Given the description of an element on the screen output the (x, y) to click on. 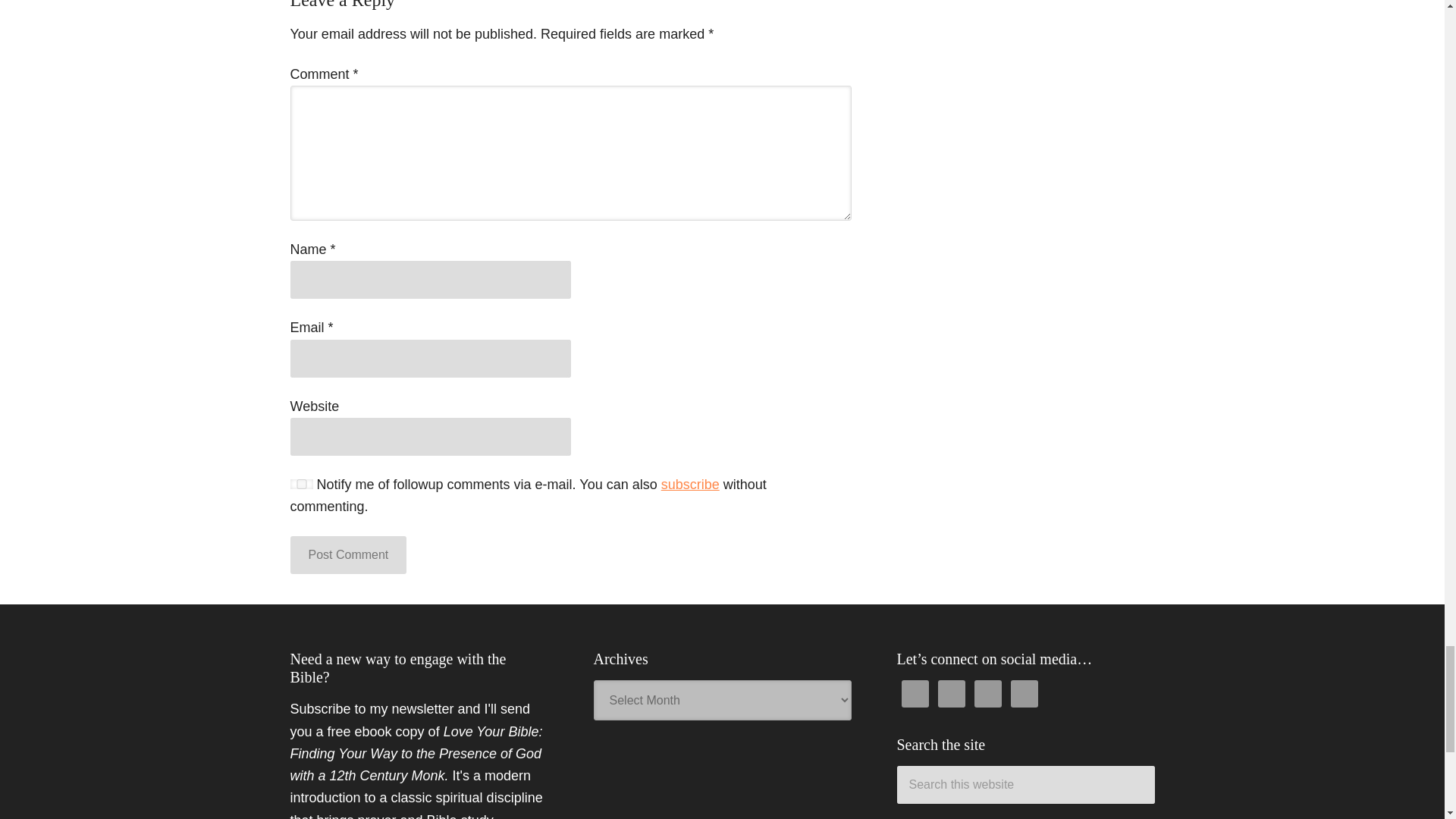
Post Comment (347, 555)
yes (301, 483)
